Given the description of an element on the screen output the (x, y) to click on. 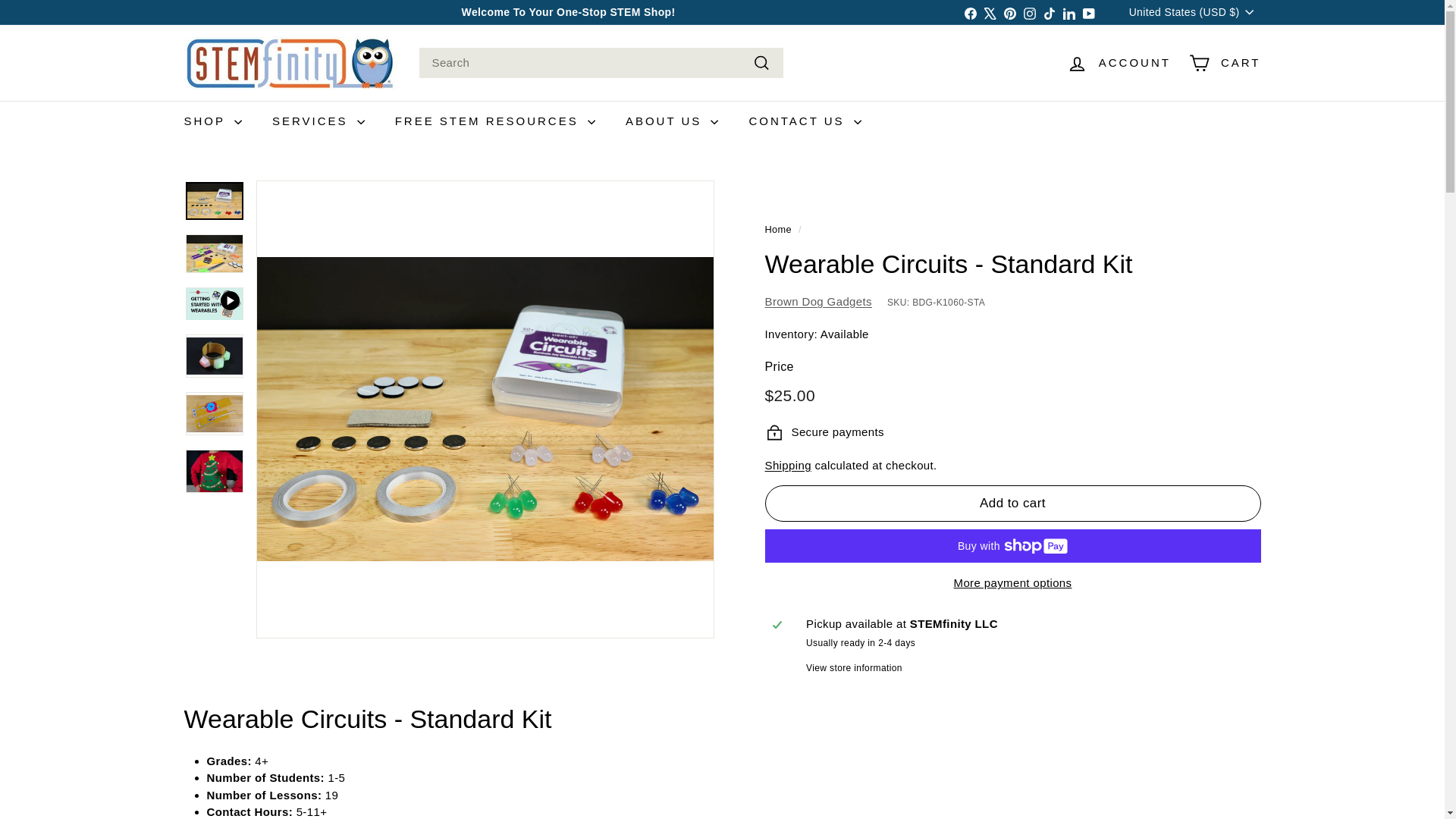
Facebook (969, 12)
STEMfinity on LinkedIn (1068, 12)
STEMfinity on YouTube (1088, 12)
Search (762, 63)
X (989, 12)
STEMfinity on TikTok (1049, 12)
STEMfinity on Facebook (969, 12)
TikTok (1049, 12)
STEMfinity on X (989, 12)
YouTube (1088, 12)
